Given the description of an element on the screen output the (x, y) to click on. 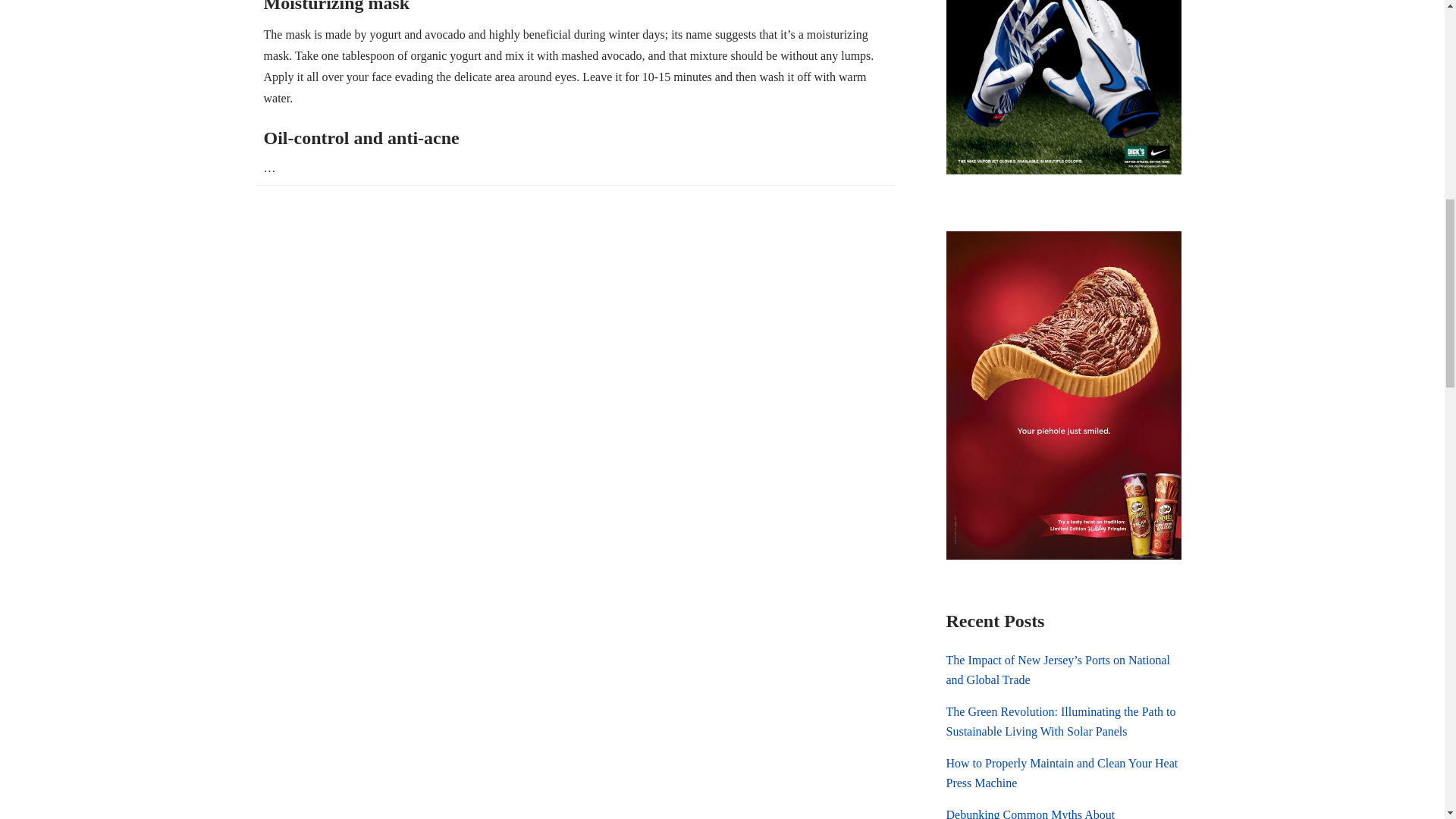
How to Properly Maintain and Clean Your Heat Press Machine (1063, 773)
